Given the description of an element on the screen output the (x, y) to click on. 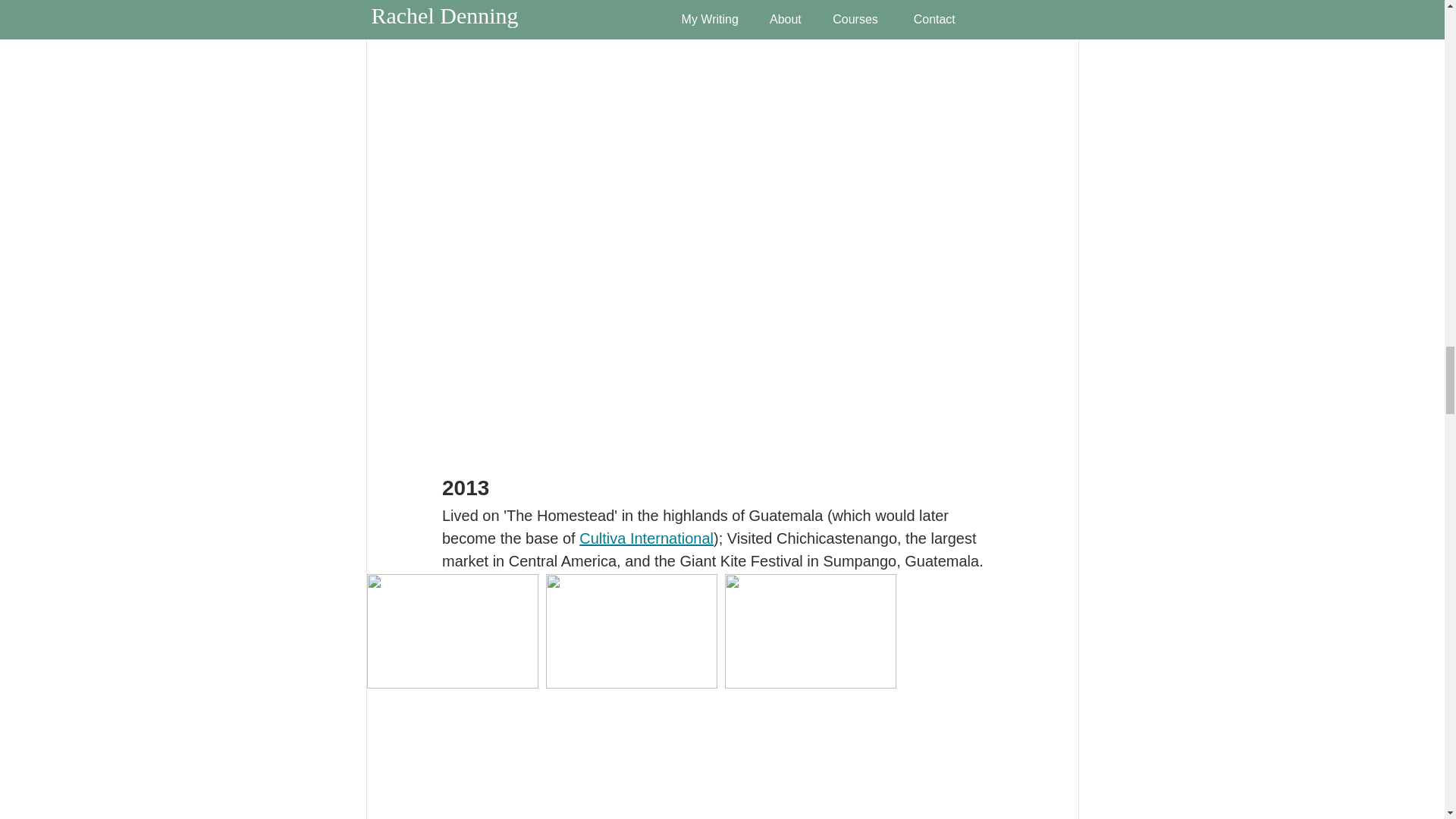
Cultiva International (646, 538)
